Given the description of an element on the screen output the (x, y) to click on. 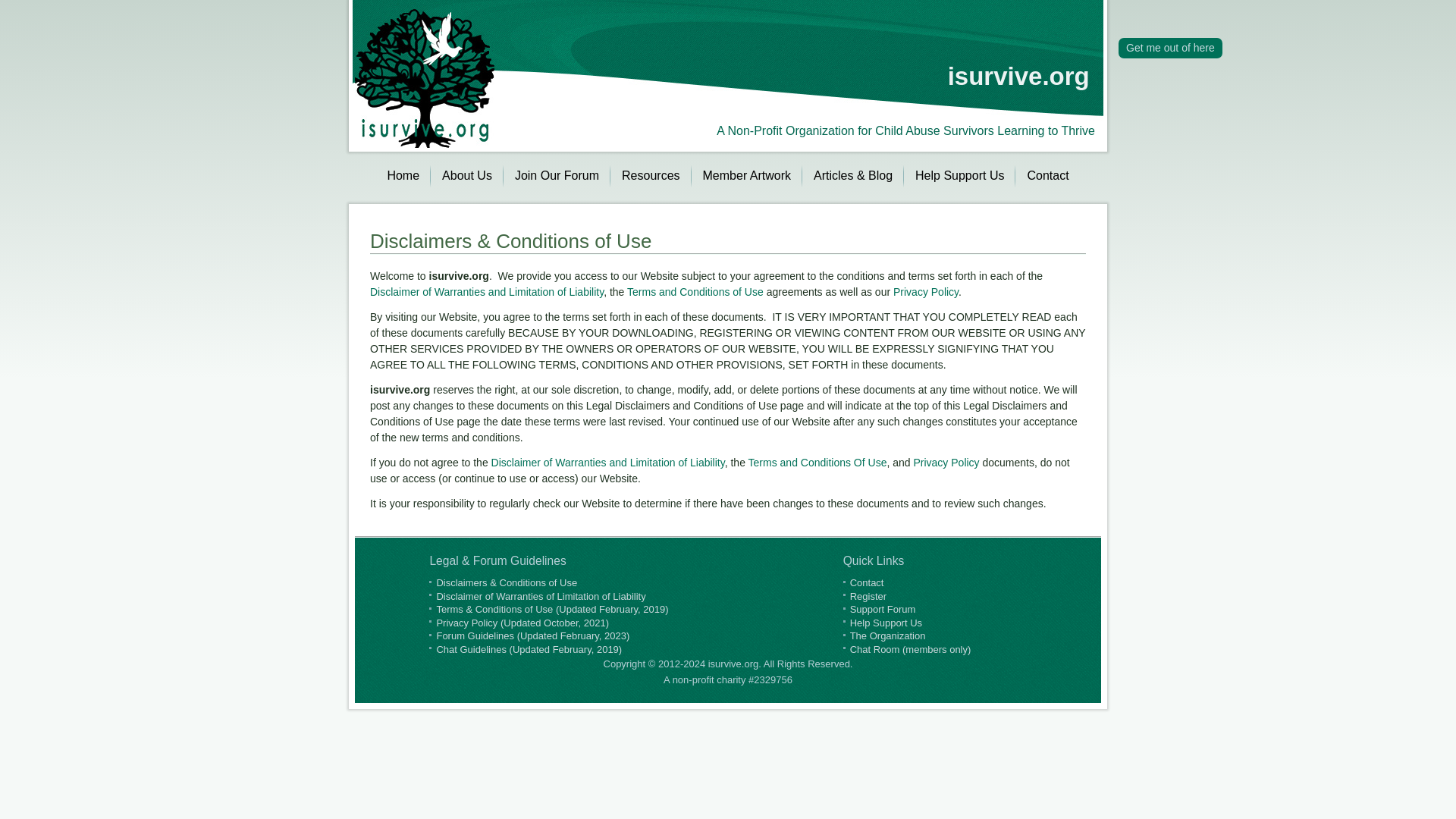
Join Our Forum (556, 175)
Get me out of here (1170, 47)
About Us (466, 175)
Member Artwork (746, 175)
Resources (650, 175)
Join Our Forum (556, 175)
Resources (650, 175)
About Us (466, 175)
Disclaimer of Warranties and Limitation of Liability (486, 291)
Disclaimer of Warranties and Limitation of Liability (608, 462)
Terms and Conditions Of Use (817, 462)
isurvive.org (1018, 76)
Privacy Policy (925, 291)
Privacy Policy (945, 462)
Home (402, 175)
